Given the description of an element on the screen output the (x, y) to click on. 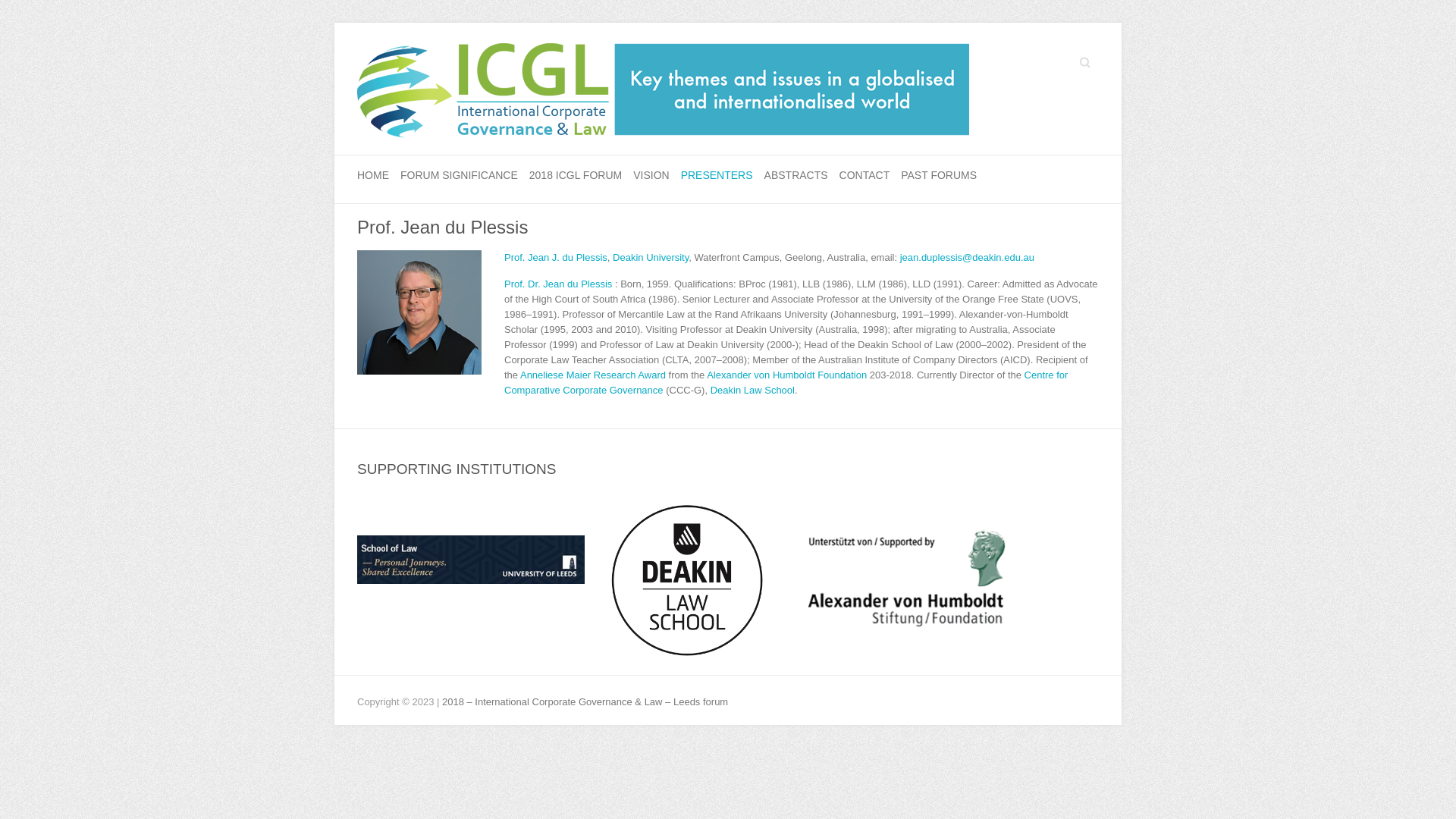
ABSTRACTS Element type: text (796, 176)
Deakin University Element type: hover (470, 536)
Alexander von Humboldt Foundation Element type: text (786, 374)
PRESENTERS Element type: text (716, 176)
jean.duplessis@deakin.edu.au Element type: text (967, 257)
2018 ICGL FORUM Element type: text (575, 176)
Deakin University Element type: hover (686, 580)
Centre for Comparative Corporate Governance Element type: text (785, 382)
Deakin University Element type: text (650, 257)
Prof. Dr. Jean du Plessis Element type: text (557, 283)
FORUM SIGNIFICANCE Element type: text (458, 176)
PAST FORUMS Element type: text (938, 176)
CONTACT Element type: text (864, 176)
VISION Element type: text (650, 176)
Deakin Law School Element type: text (752, 389)
HOME Element type: text (373, 176)
Anneliese Maier Research Award Element type: text (592, 374)
Prof. Jean J. du Plessis Element type: text (555, 257)
